Given the description of an element on the screen output the (x, y) to click on. 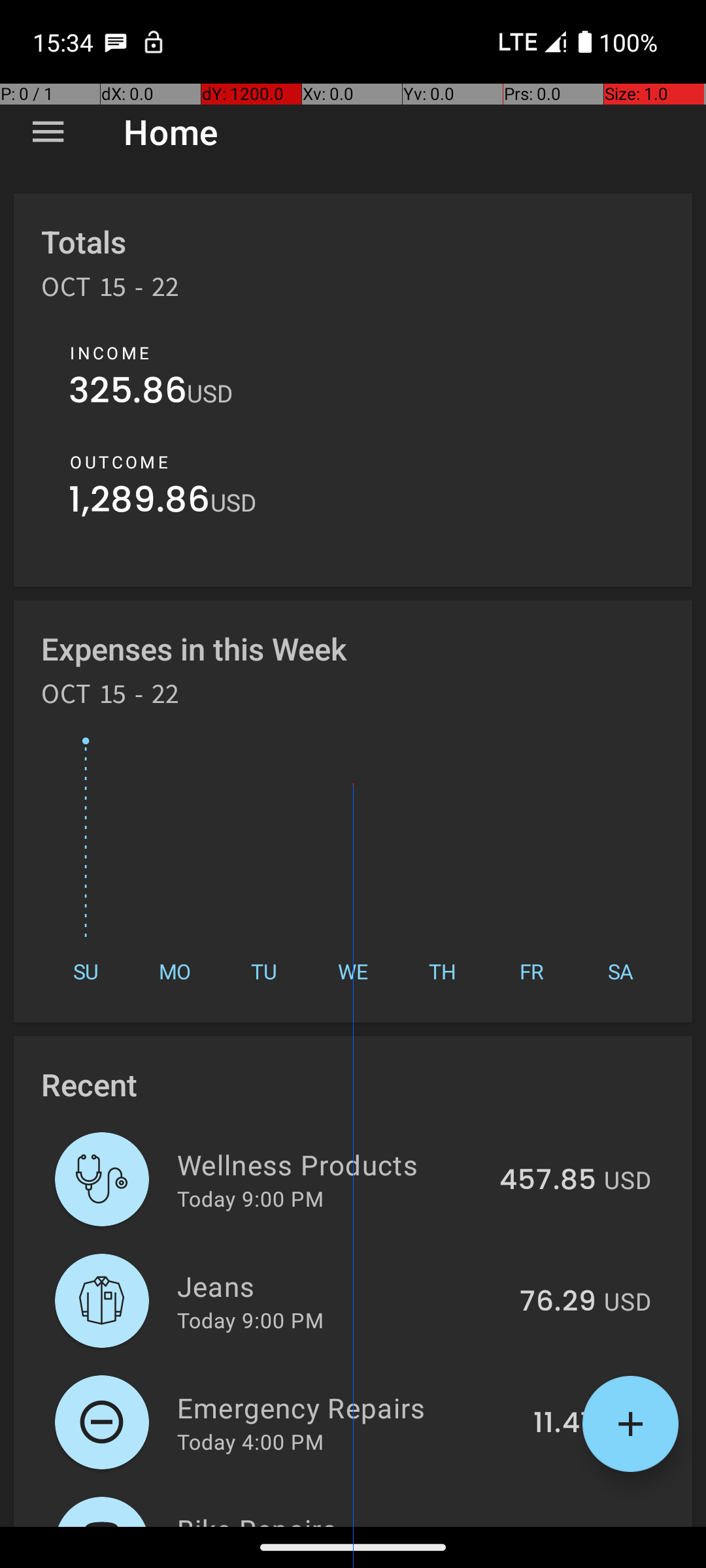
325.86 Element type: android.widget.TextView (127, 393)
1,289.86 Element type: android.widget.TextView (139, 502)
Wellness Products Element type: android.widget.TextView (330, 1164)
Today 9:00 PM Element type: android.widget.TextView (250, 1198)
457.85 Element type: android.widget.TextView (547, 1180)
Jeans Element type: android.widget.TextView (340, 1285)
76.29 Element type: android.widget.TextView (557, 1301)
Emergency Repairs Element type: android.widget.TextView (347, 1407)
Today 4:00 PM Element type: android.widget.TextView (250, 1441)
11.47 Element type: android.widget.TextView (564, 1423)
Bike Repairs Element type: android.widget.TextView (338, 1518)
133.16 Element type: android.widget.TextView (555, 1524)
